Given the description of an element on the screen output the (x, y) to click on. 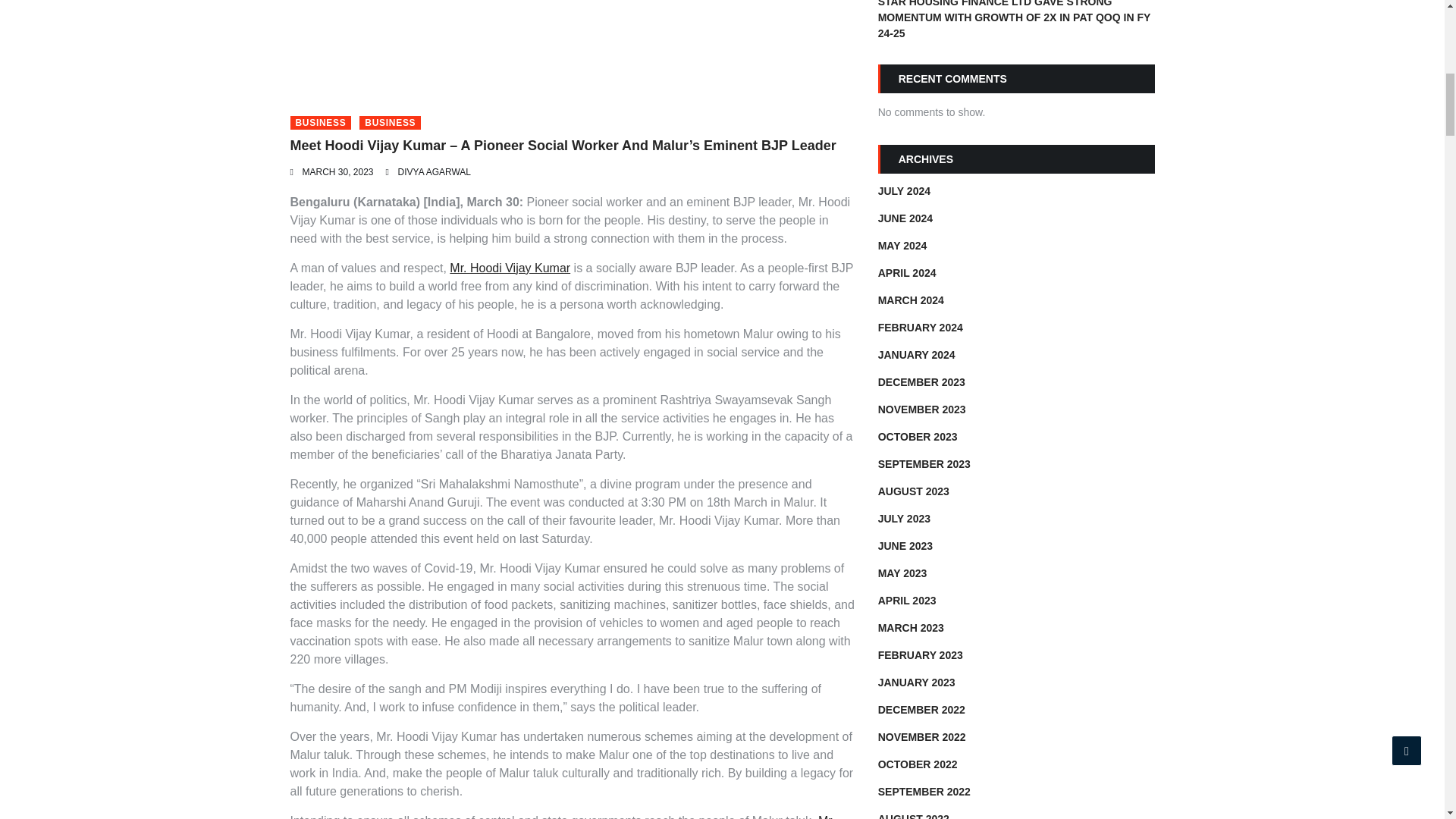
BUSINESS (319, 122)
Mr. Hoodi Vijay Kumar (509, 267)
DIVYA AGARWAL (433, 172)
MARCH 30, 2023 (336, 172)
BUSINESS (389, 122)
